Given the description of an element on the screen output the (x, y) to click on. 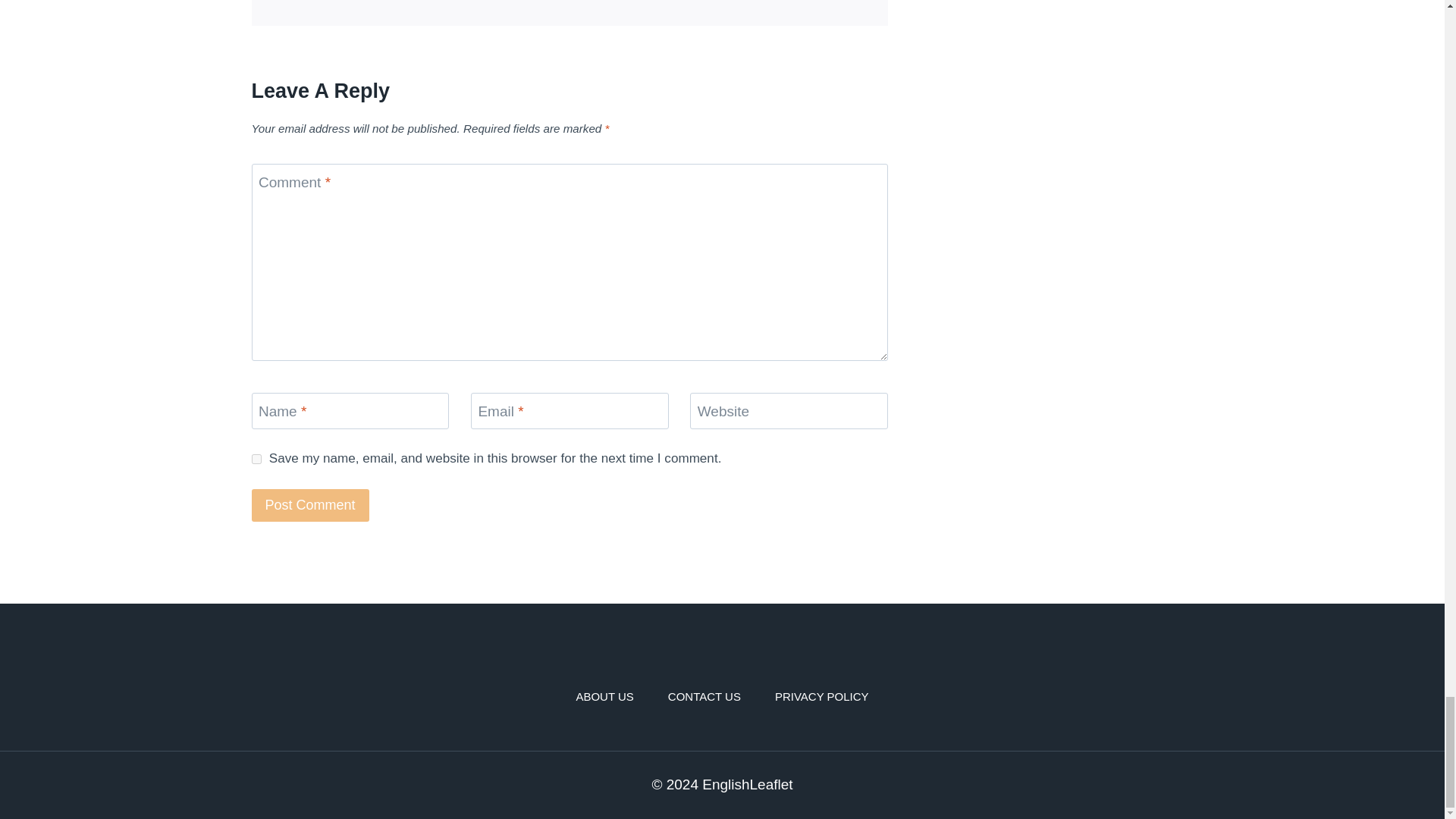
Post Comment (310, 504)
yes (256, 459)
